Given the description of an element on the screen output the (x, y) to click on. 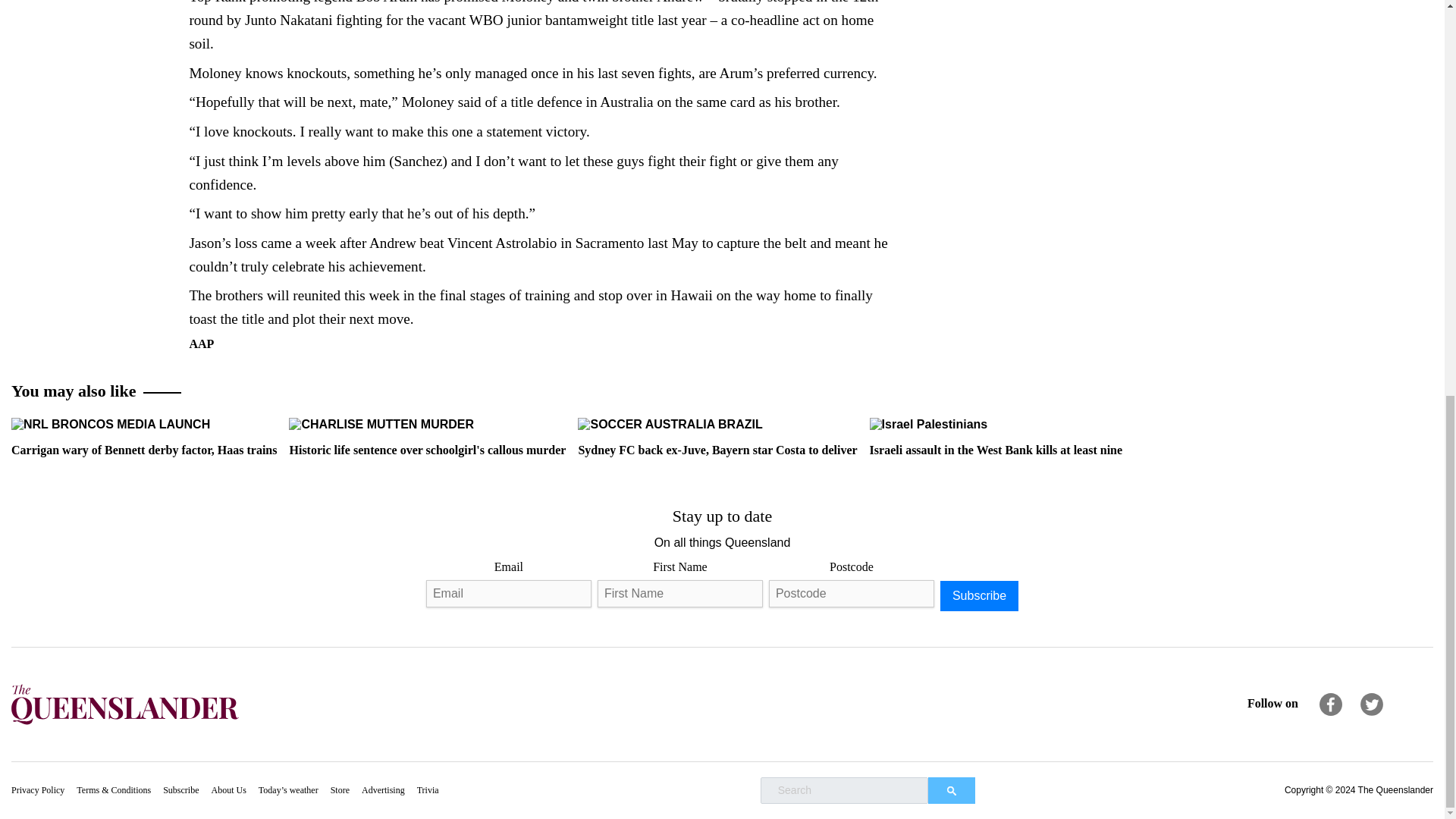
Sydney FC back ex-Juve, Bayern star Costa to deliver (717, 436)
Historic life sentence over schoolgirl's callous murder (427, 436)
Israeli assault in the West Bank kills at least nine (928, 424)
Historic life sentence over schoolgirl's callous murder (381, 424)
Sydney FC back ex-Juve, Bayern star Costa to deliver (669, 424)
Carrigan wary of Bennett derby factor, Haas trains (143, 436)
Carrigan wary of Bennett derby factor, Haas trains (110, 424)
